Given the description of an element on the screen output the (x, y) to click on. 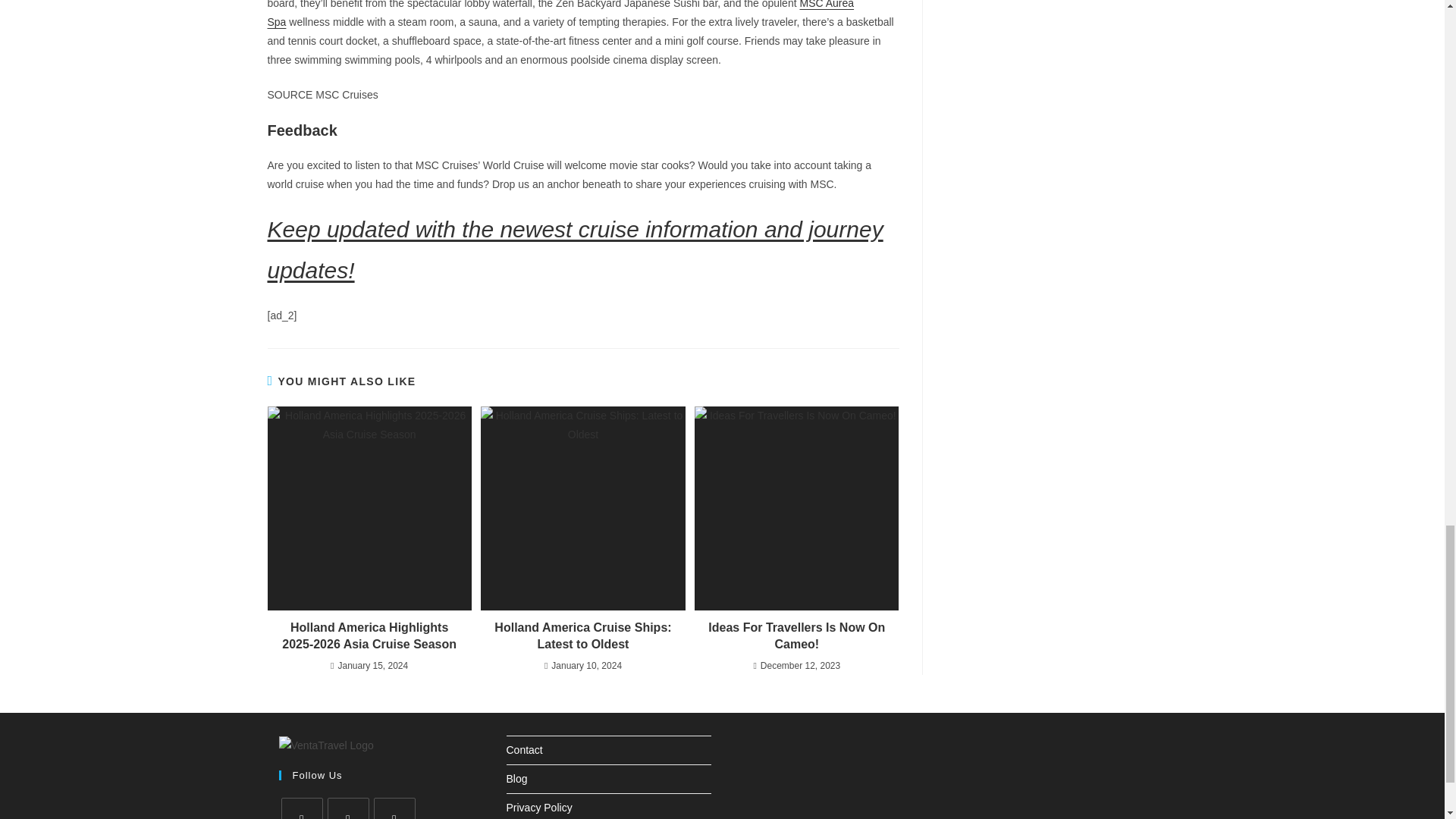
Holland America Highlights 2025-2026 Asia Cruise Season (368, 508)
Ideas For Travellers Is Now On Cameo! (796, 508)
Holland America Cruise Ships: Latest to Oldest (582, 508)
